Given the description of an element on the screen output the (x, y) to click on. 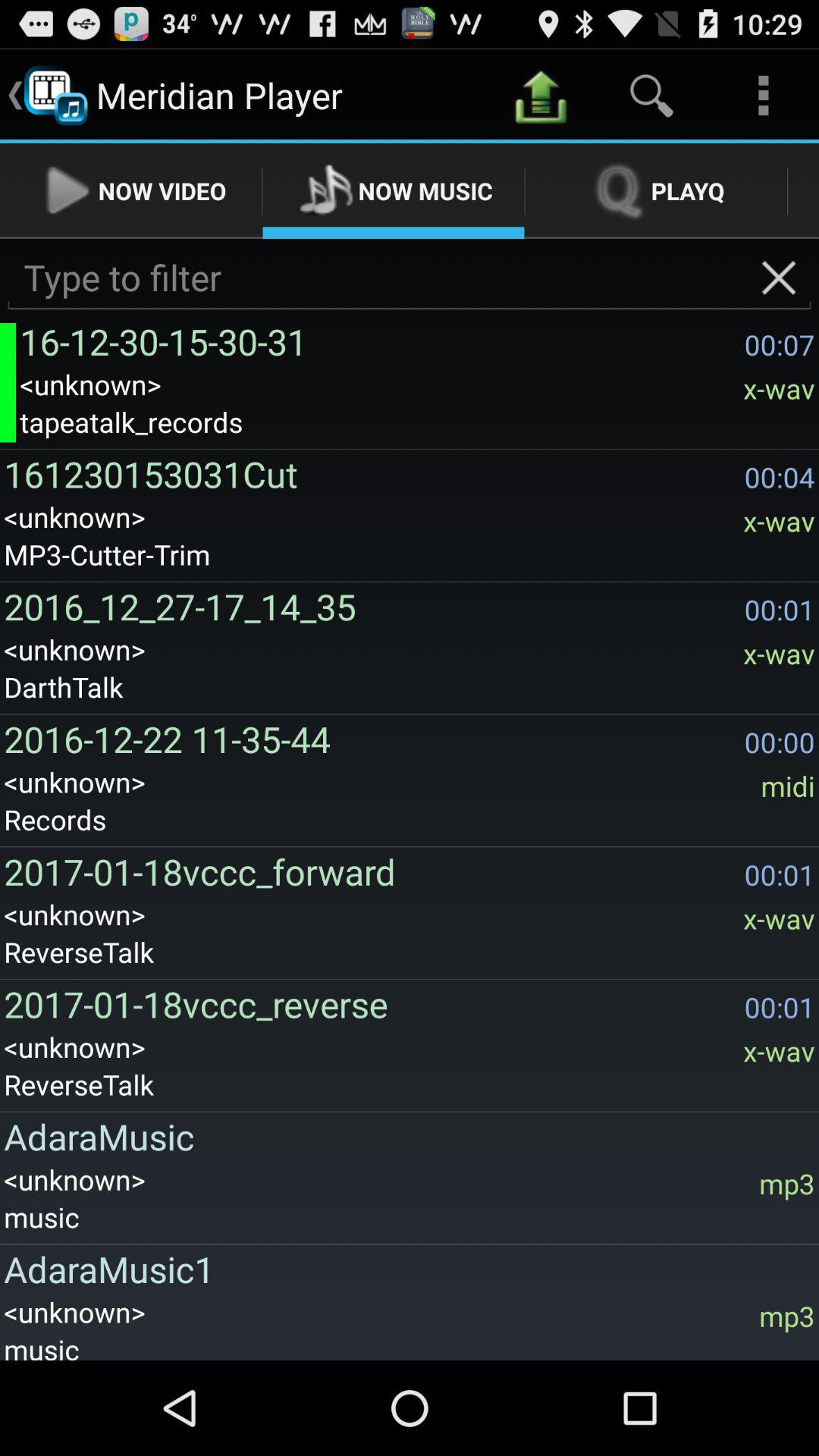
turn off item above the 161230153031cut (417, 421)
